Given the description of an element on the screen output the (x, y) to click on. 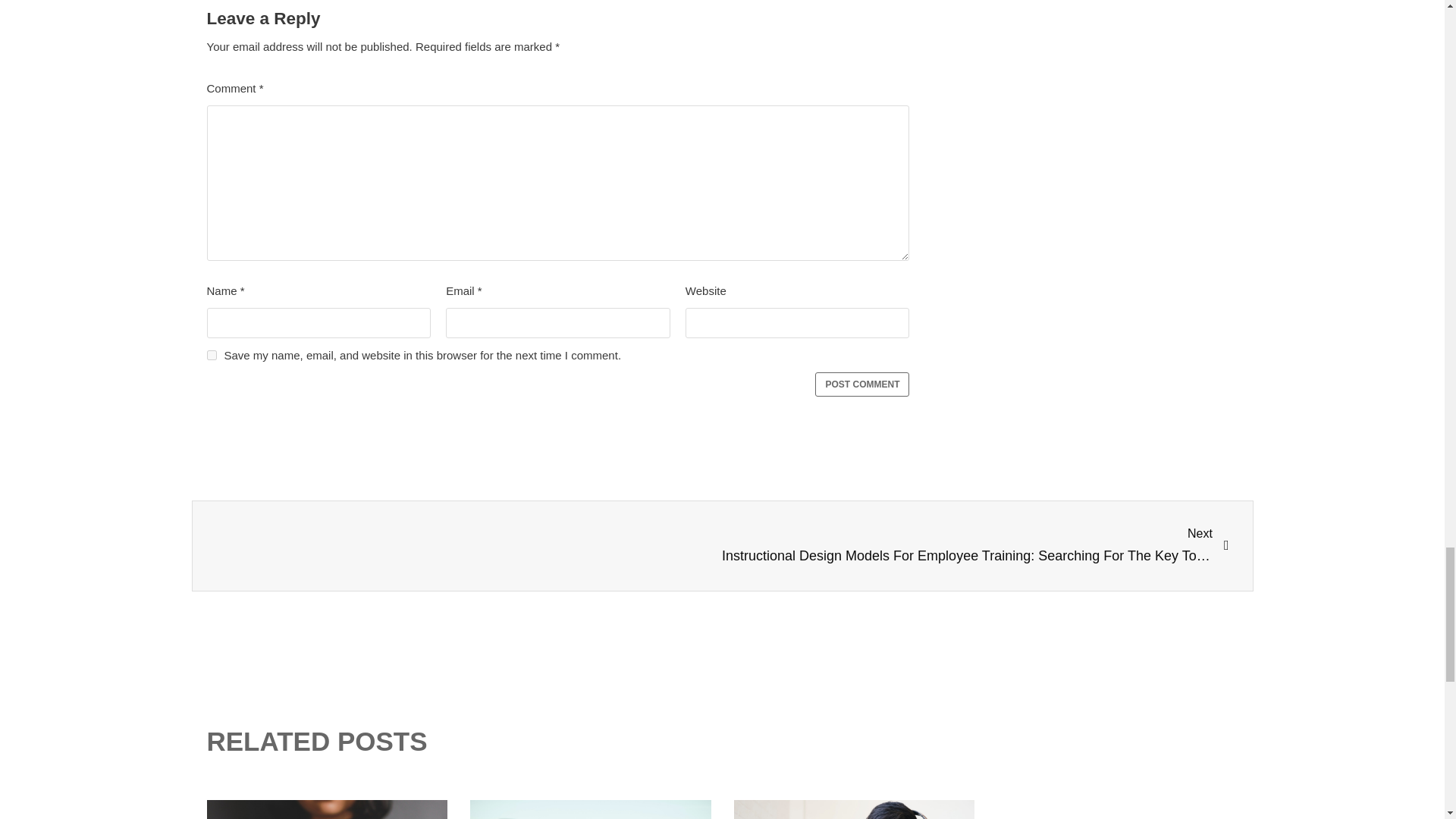
yes (210, 355)
Post Comment (861, 384)
Post Comment (861, 384)
